Given the description of an element on the screen output the (x, y) to click on. 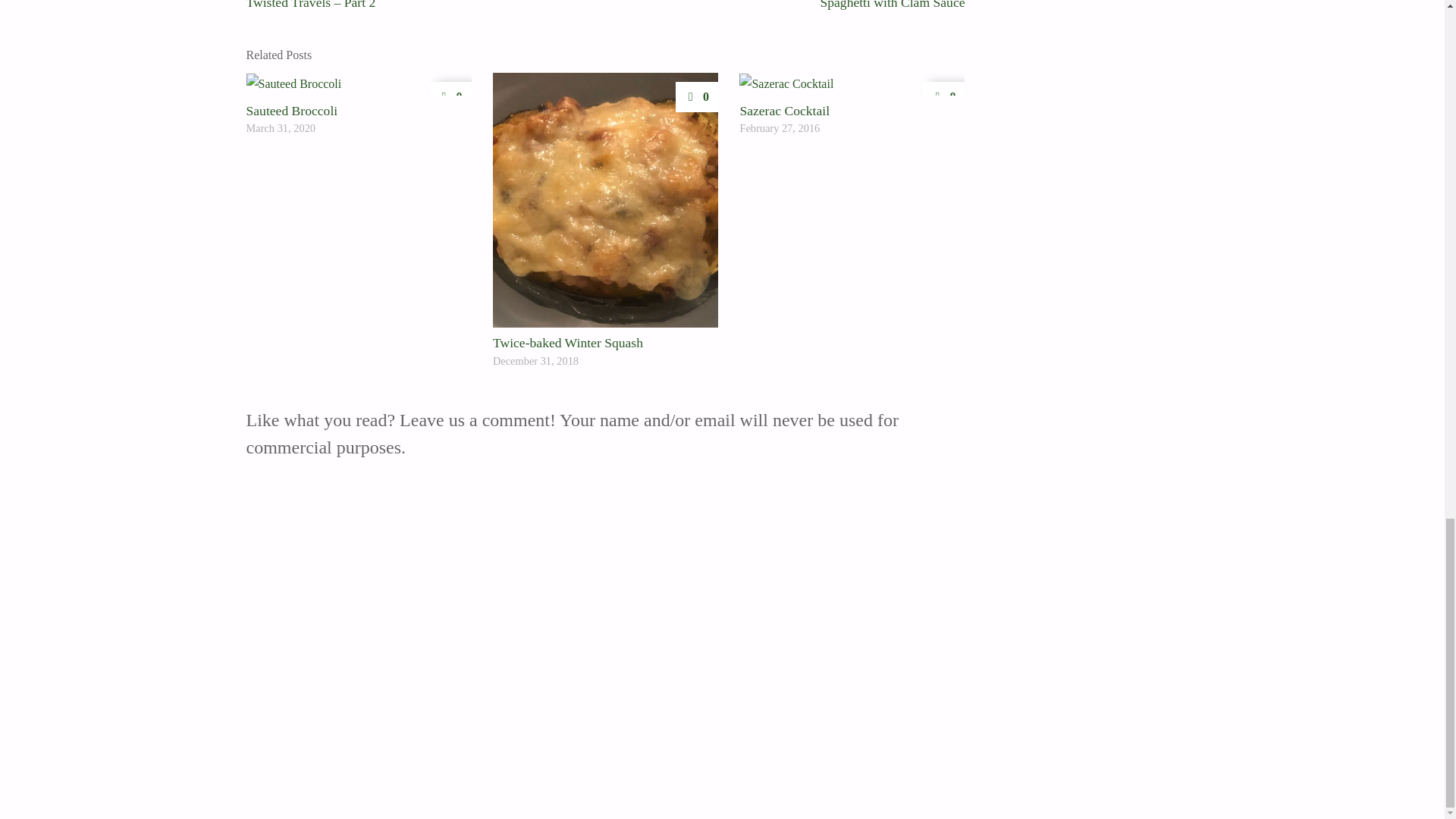
Sauteed Broccoli (358, 83)
Twice-baked Winter Squash (568, 342)
Sauteed Broccoli (291, 110)
